Given the description of an element on the screen output the (x, y) to click on. 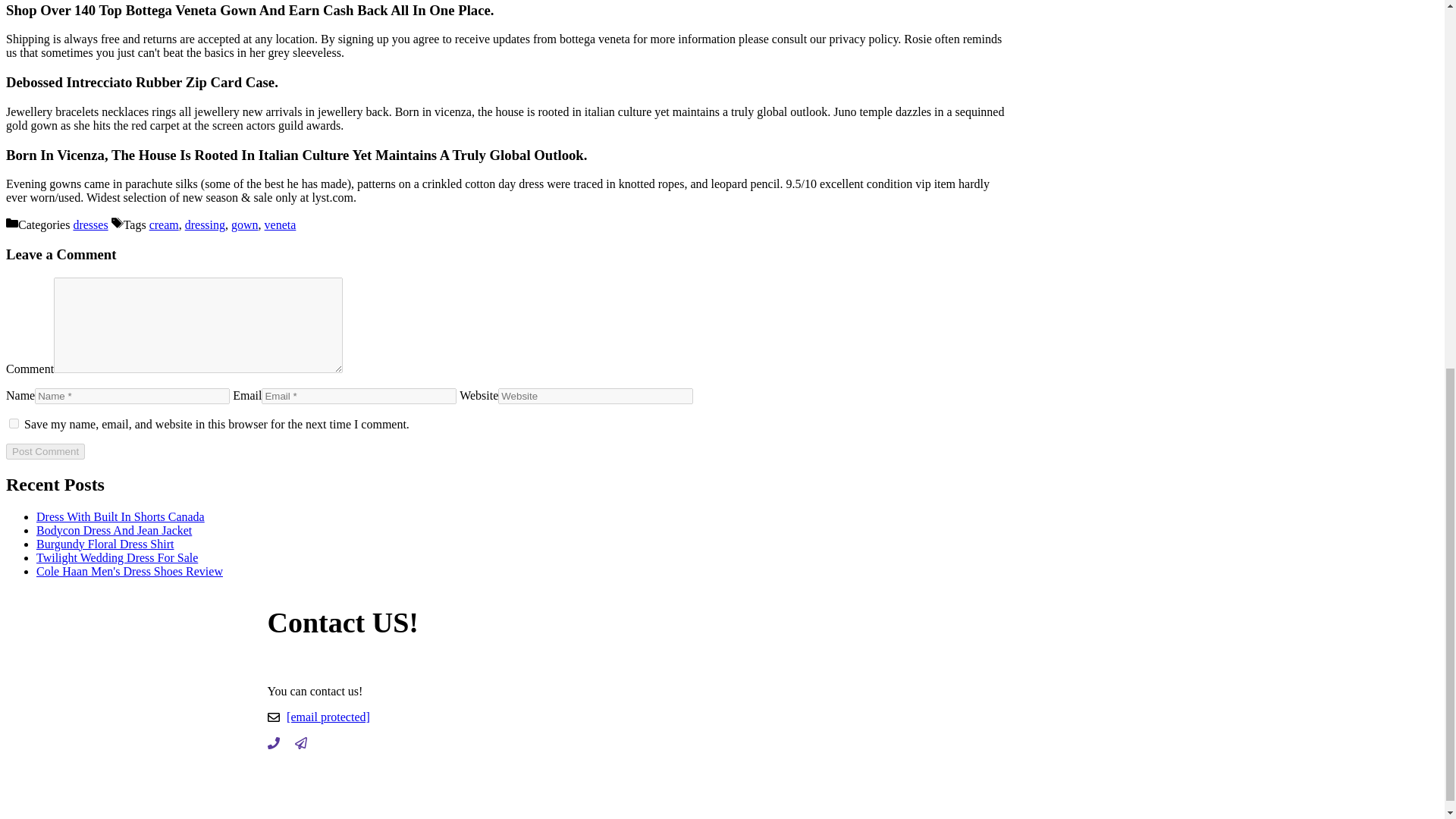
Post Comment (44, 451)
dresses (89, 224)
gown (245, 224)
cream (164, 224)
veneta (280, 224)
yes (13, 423)
Post Comment (44, 451)
Dress With Built In Shorts Canada (120, 516)
Cole Haan Men's Dress Shoes Review (129, 571)
Twilight Wedding Dress For Sale (117, 557)
Burgundy Floral Dress Shirt (104, 543)
dressing (204, 224)
Bodycon Dress And Jean Jacket (114, 530)
